Given the description of an element on the screen output the (x, y) to click on. 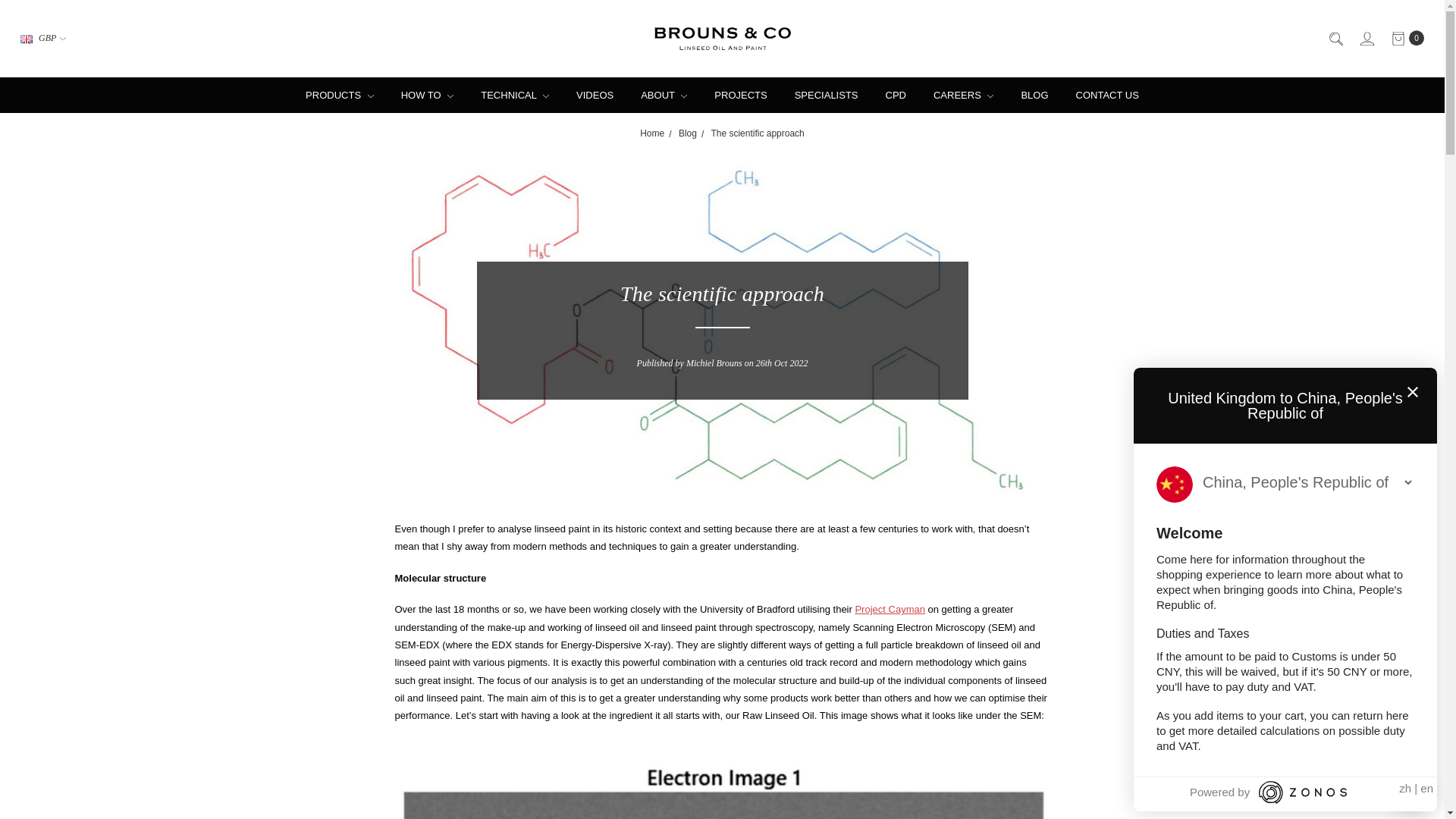
GBP (42, 38)
PRODUCTS (339, 94)
Select your country (1306, 481)
Open Zonos Hello (1411, 792)
0 (1407, 38)
